Given the description of an element on the screen output the (x, y) to click on. 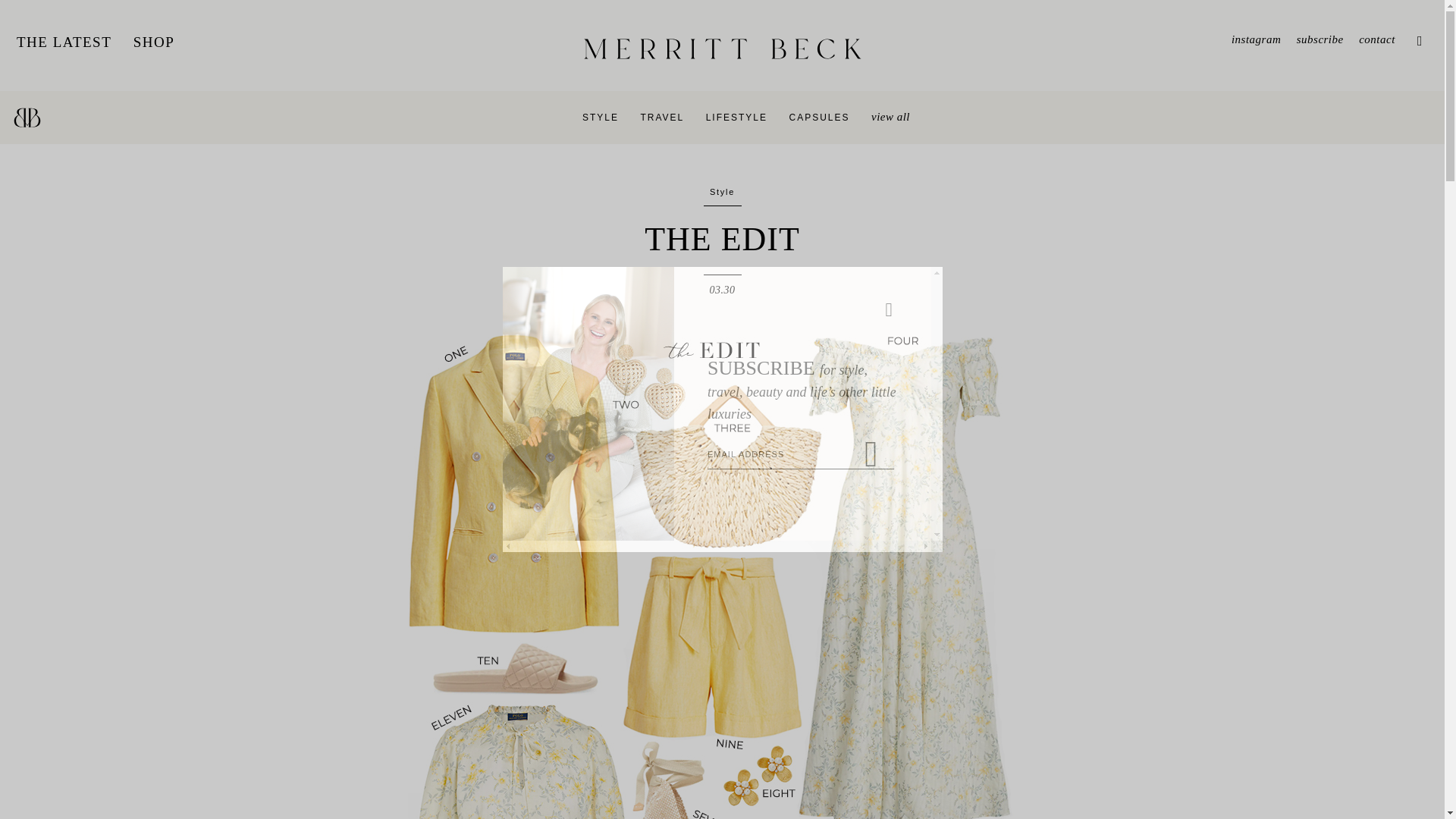
THE LATEST (64, 41)
CAPSULES (818, 117)
Style (722, 191)
view all (890, 116)
subscribe (1320, 39)
LIFESTYLE (736, 117)
contact (1376, 39)
STYLE (600, 117)
TRAVEL (662, 117)
SHOP (153, 41)
instagram (1256, 39)
